Given the description of an element on the screen output the (x, y) to click on. 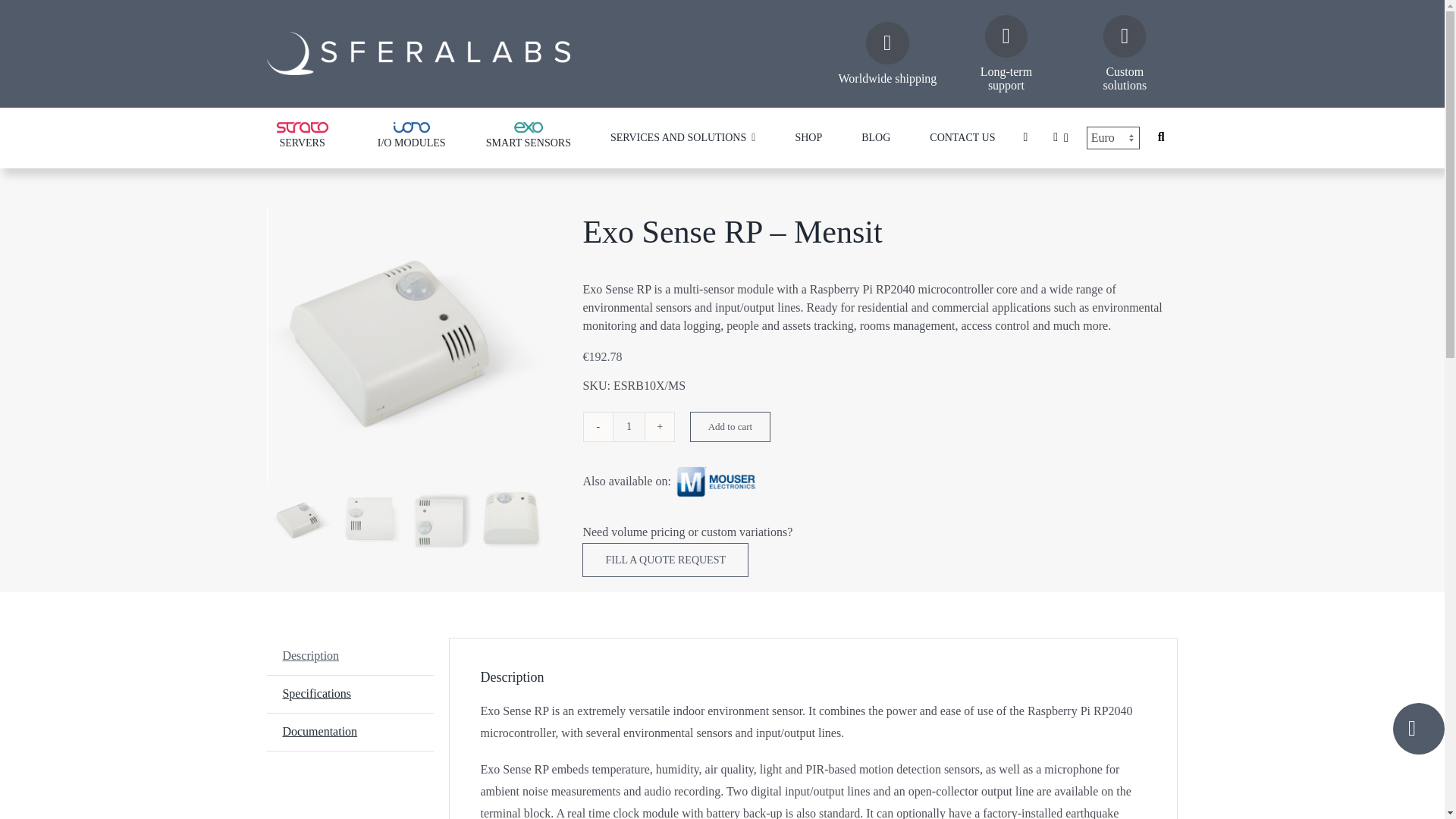
exo-sense-rp-white-1.png (133, 345)
1 (627, 426)
exo-line (528, 127)
- (597, 426)
iono-line-logo (411, 127)
strato-line (301, 127)
SERVERS (301, 137)
